Given the description of an element on the screen output the (x, y) to click on. 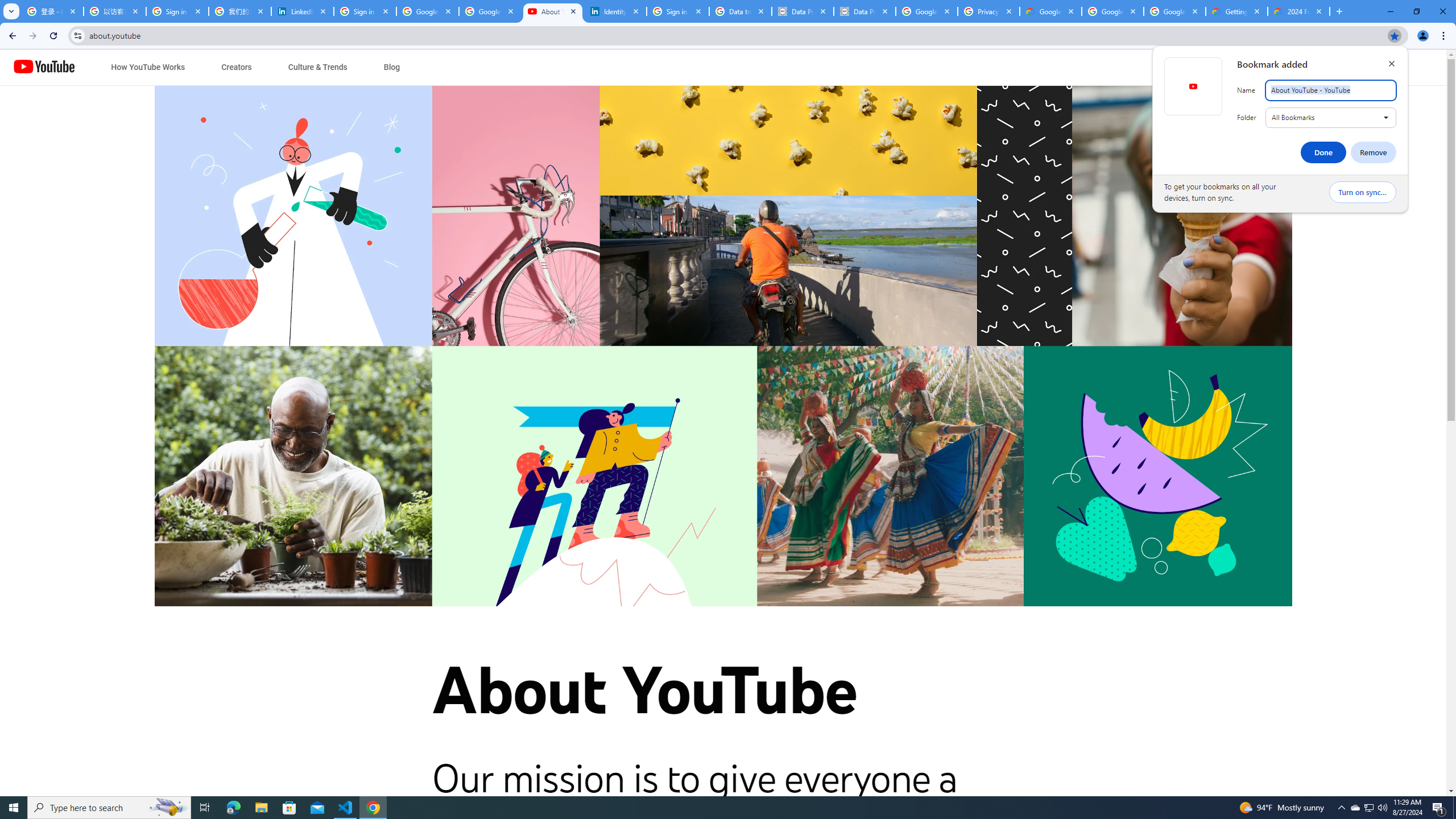
Google Chrome - 1 running window (373, 807)
Notification Chevron (1341, 807)
Microsoft Store (289, 807)
Data Privacy Framework (802, 11)
How YouTube Works (147, 67)
LinkedIn Privacy Policy (302, 11)
User Promoted Notification Area (1368, 807)
Data Privacy Framework (864, 11)
About YouTube - YouTube (552, 11)
Done (1323, 151)
